Given the description of an element on the screen output the (x, y) to click on. 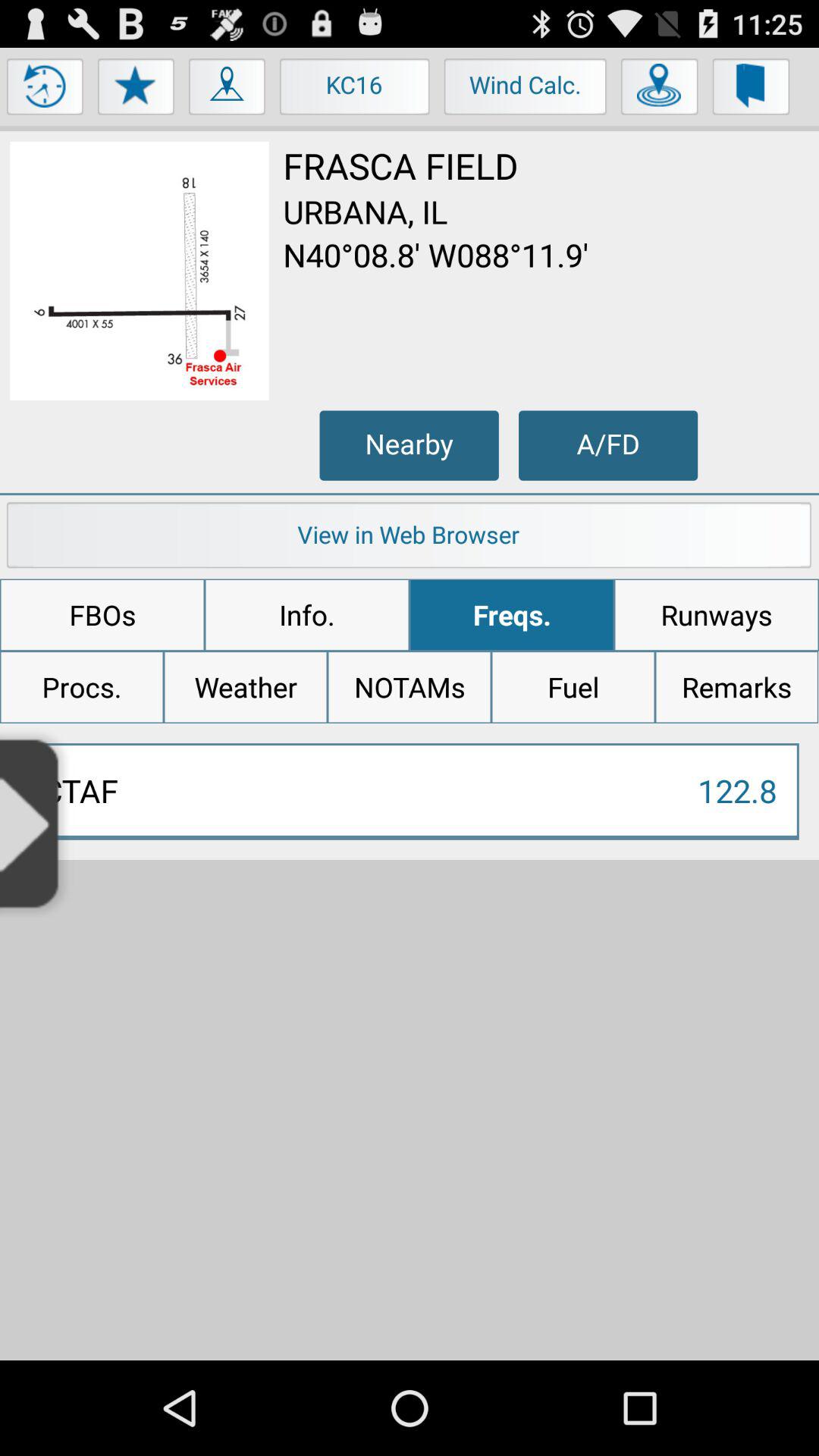
folder file (751, 90)
